Given the description of an element on the screen output the (x, y) to click on. 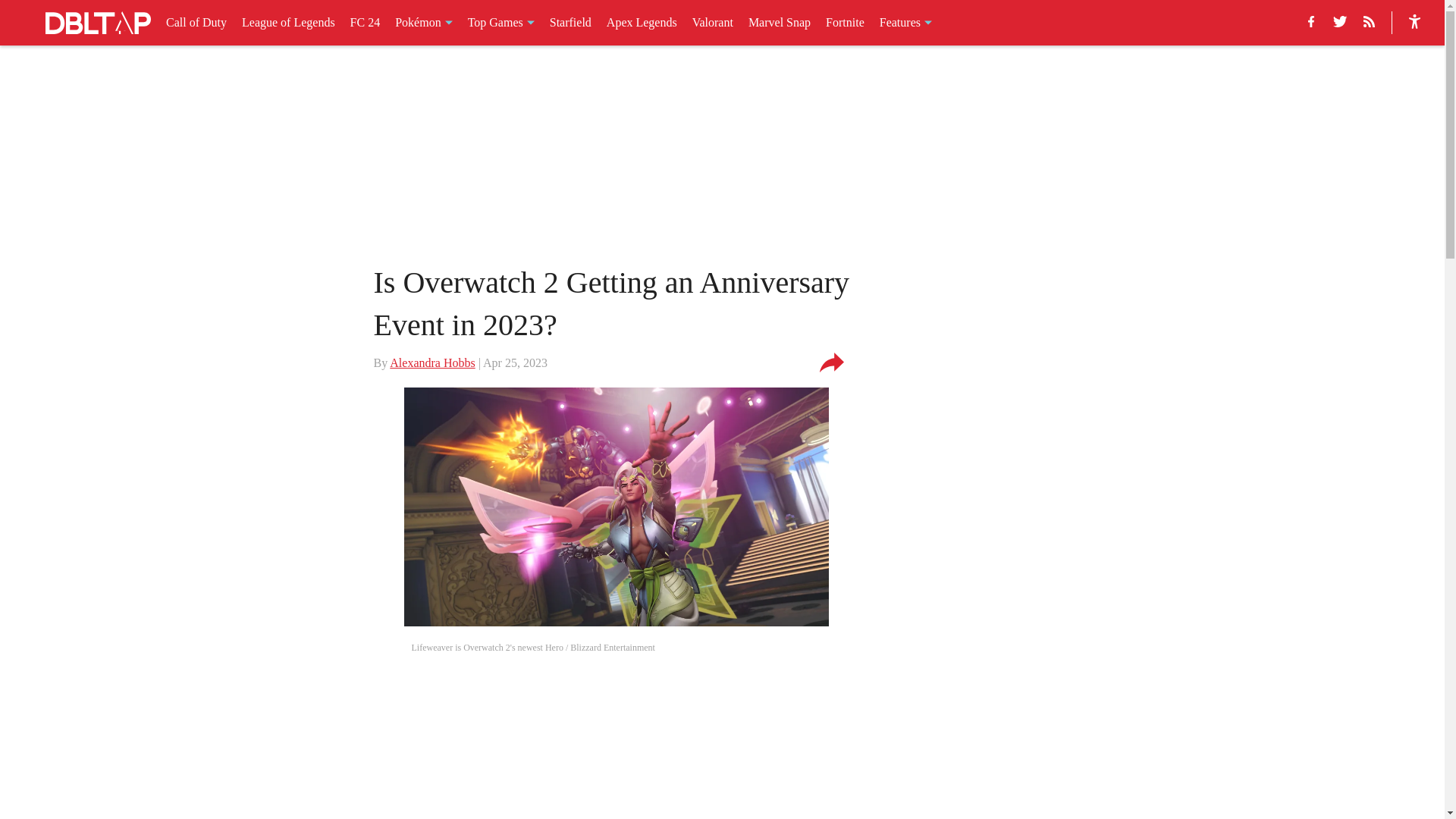
Call of Duty (196, 22)
Features (905, 22)
Apex Legends (642, 22)
FC 24 (365, 22)
Valorant (713, 22)
Starfield (570, 22)
Lifeweaver is Overwatch 2's newest Hero (615, 506)
League of Legends (287, 22)
Top Games (500, 22)
Marvel Snap (779, 22)
